Given the description of an element on the screen output the (x, y) to click on. 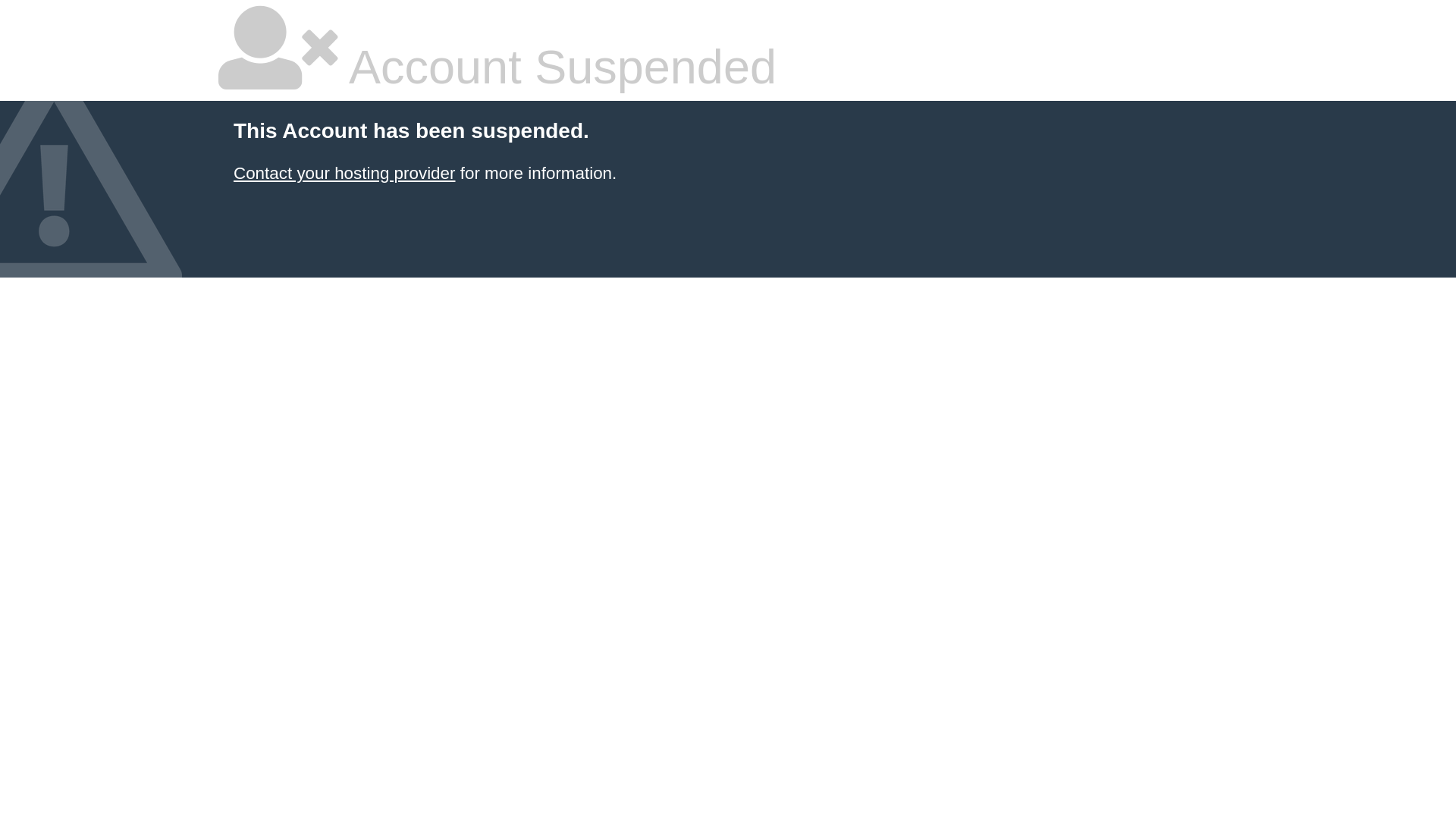
Contact your hosting provider Element type: text (344, 172)
